Given the description of an element on the screen output the (x, y) to click on. 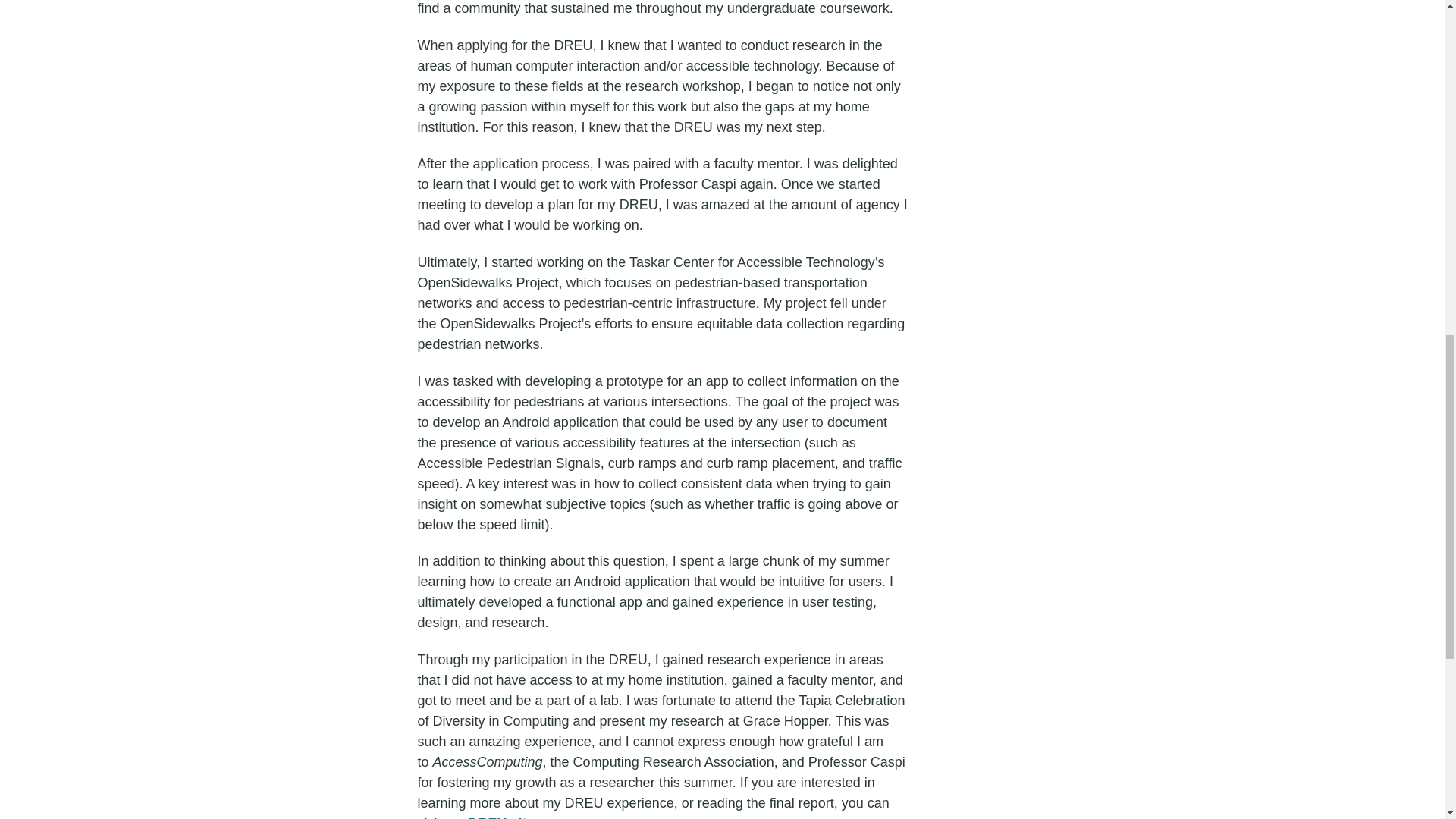
my DREU site (489, 817)
